Given the description of an element on the screen output the (x, y) to click on. 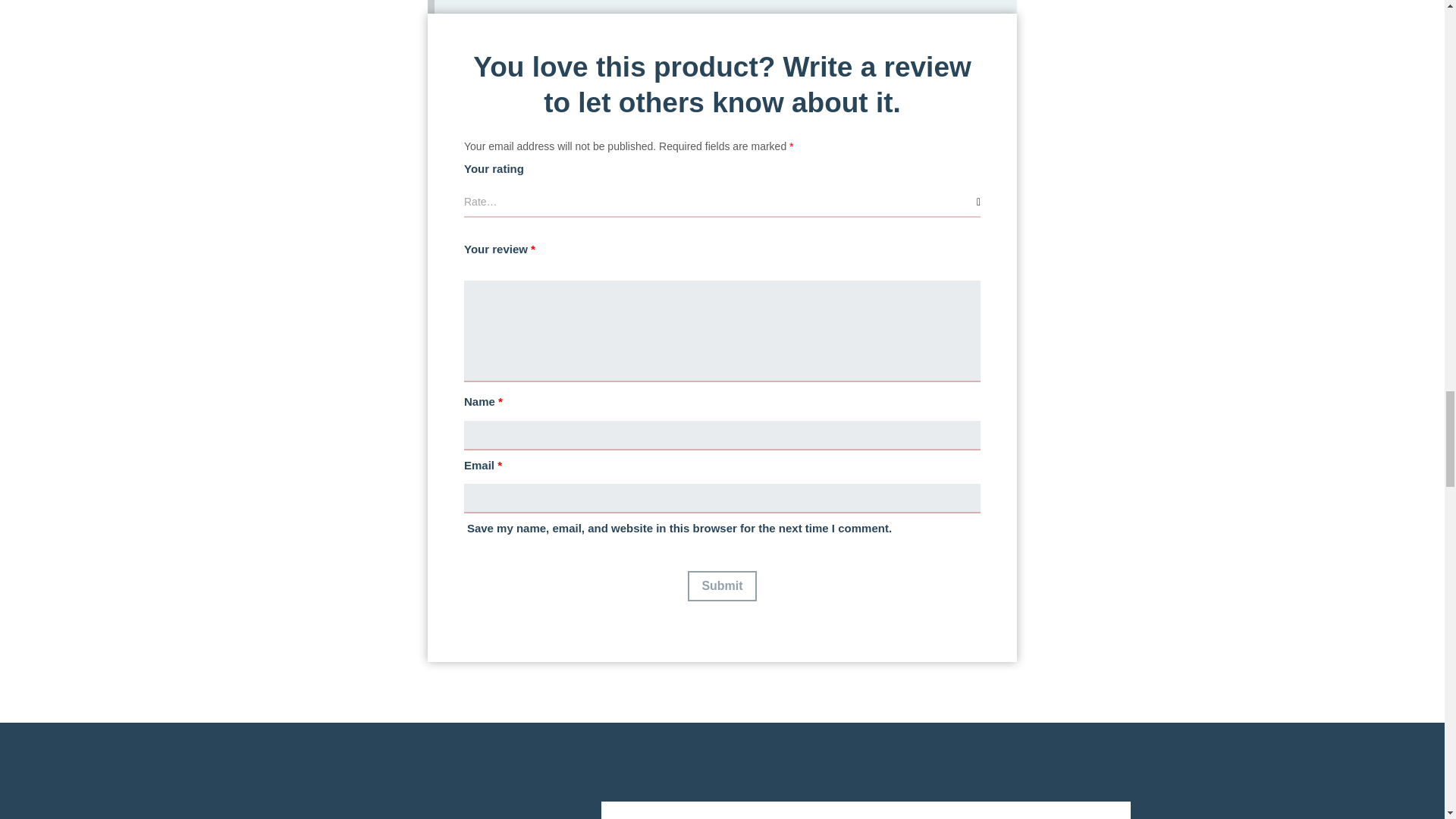
Submit (721, 585)
